Given the description of an element on the screen output the (x, y) to click on. 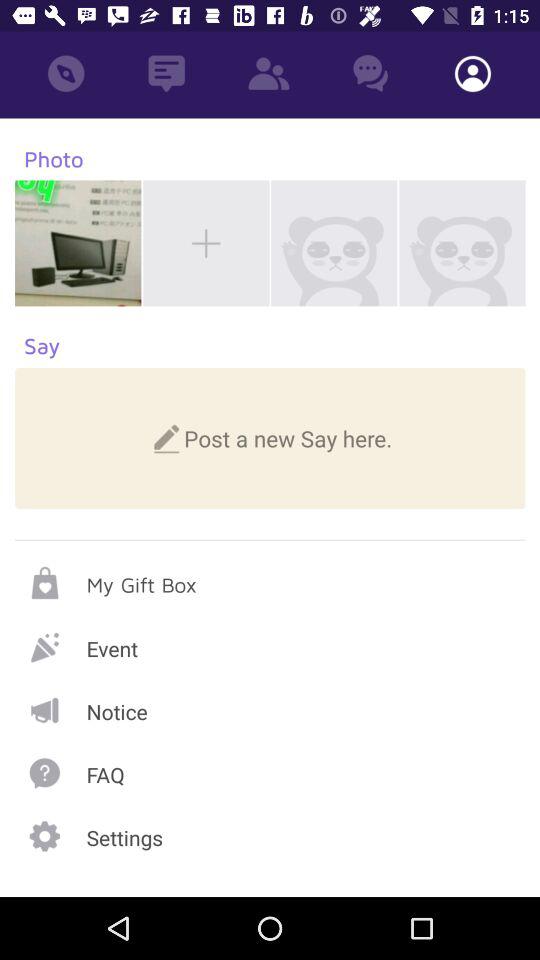
frequently asked questions (270, 772)
